Given the description of an element on the screen output the (x, y) to click on. 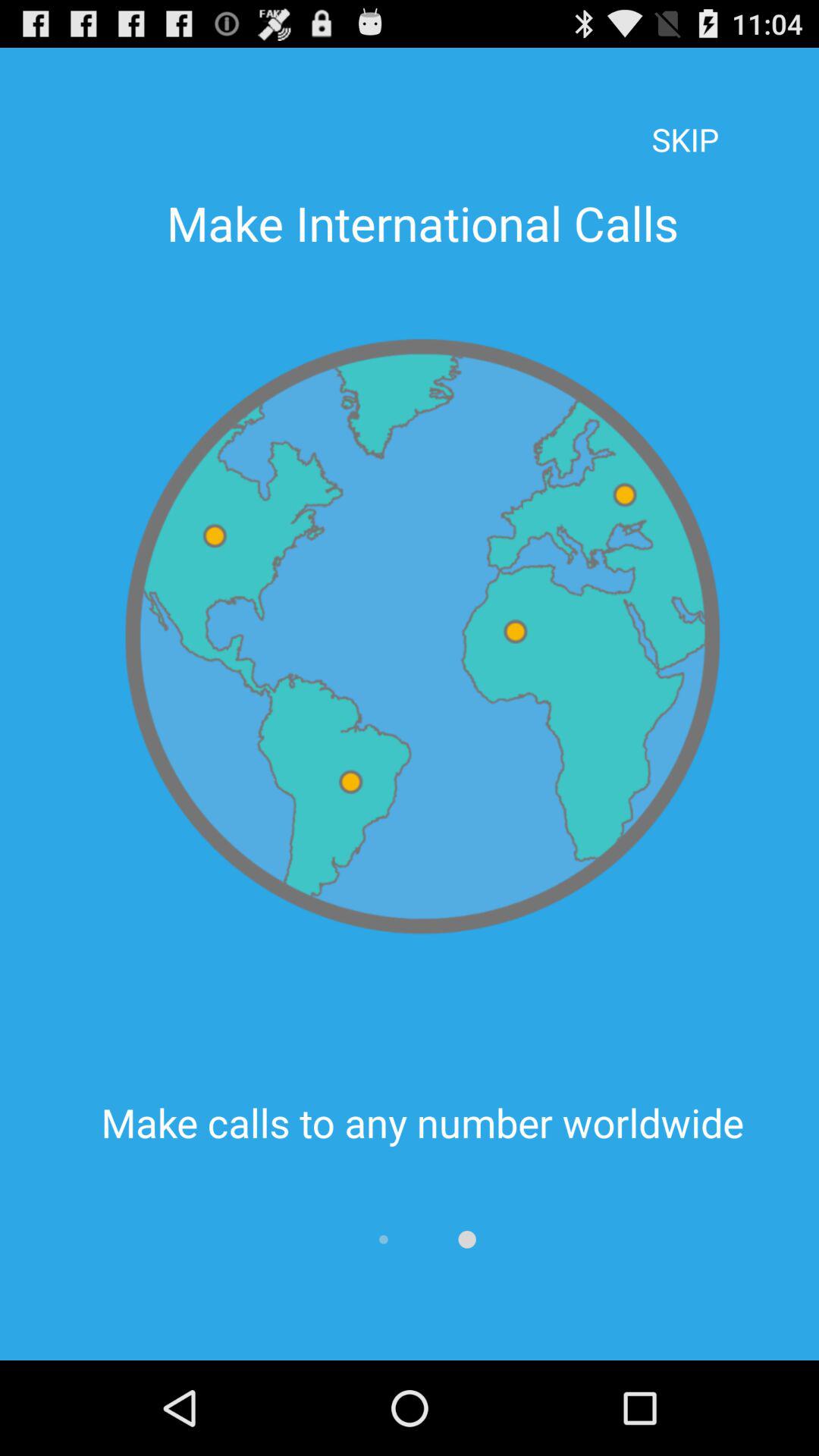
toggle to a page (467, 1239)
